Given the description of an element on the screen output the (x, y) to click on. 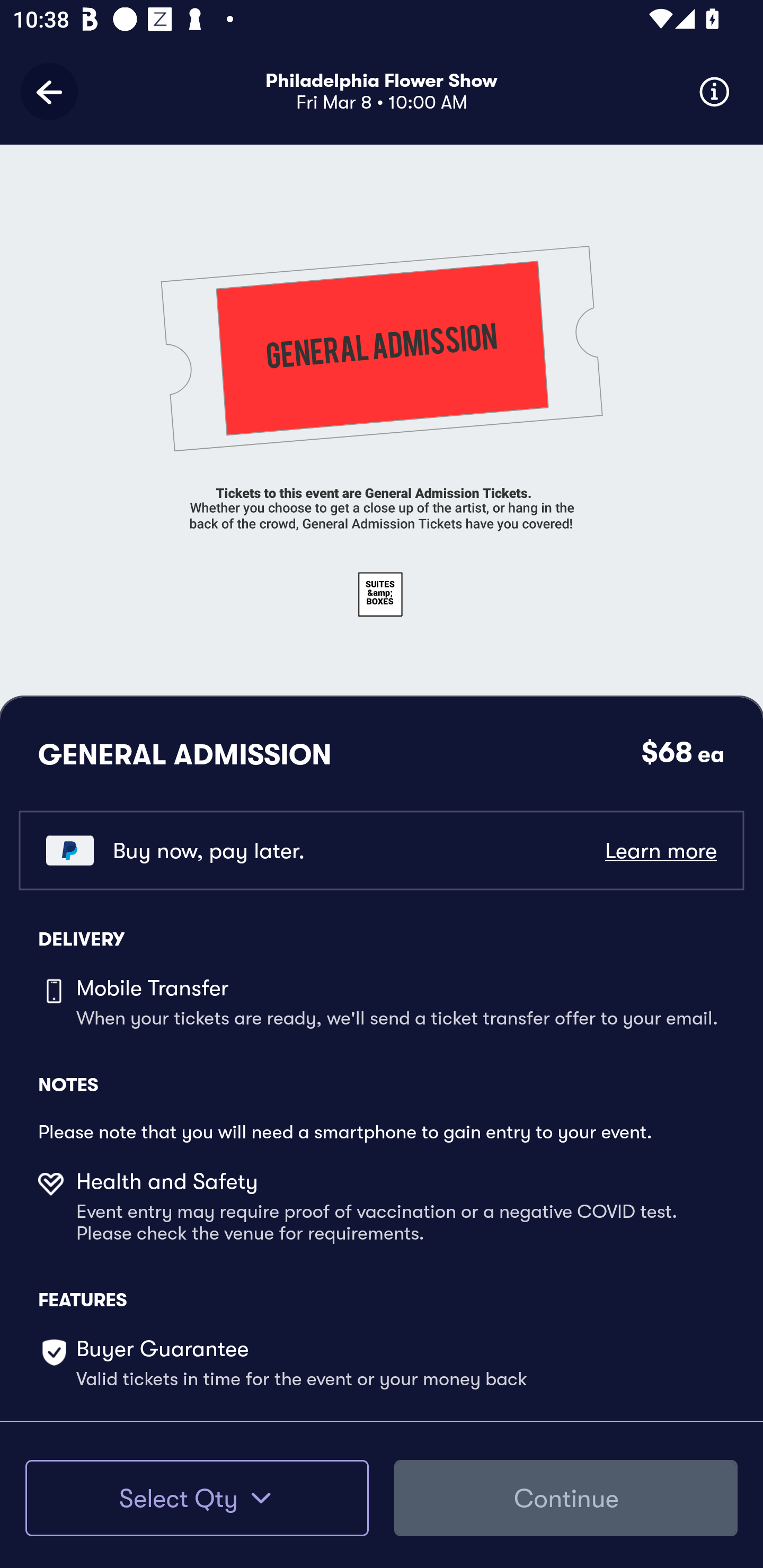
Learn more (660, 850)
Select Qty (196, 1497)
Continue (565, 1497)
